Given the description of an element on the screen output the (x, y) to click on. 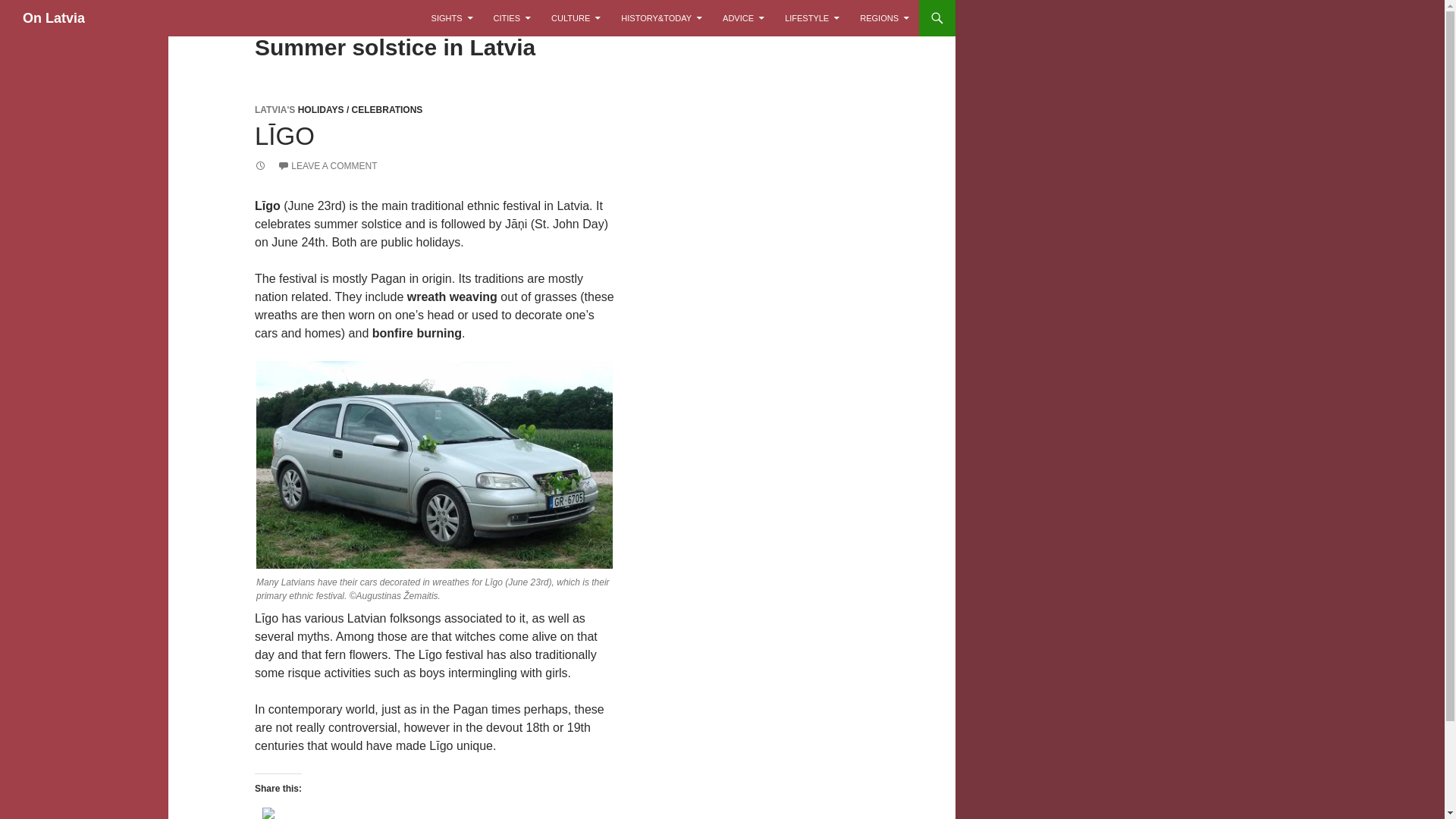
SIGHTS (451, 18)
On Latvia (53, 18)
ADVICE (743, 18)
CITIES (512, 18)
CULTURE (575, 18)
LIFESTYLE (812, 18)
